Given the description of an element on the screen output the (x, y) to click on. 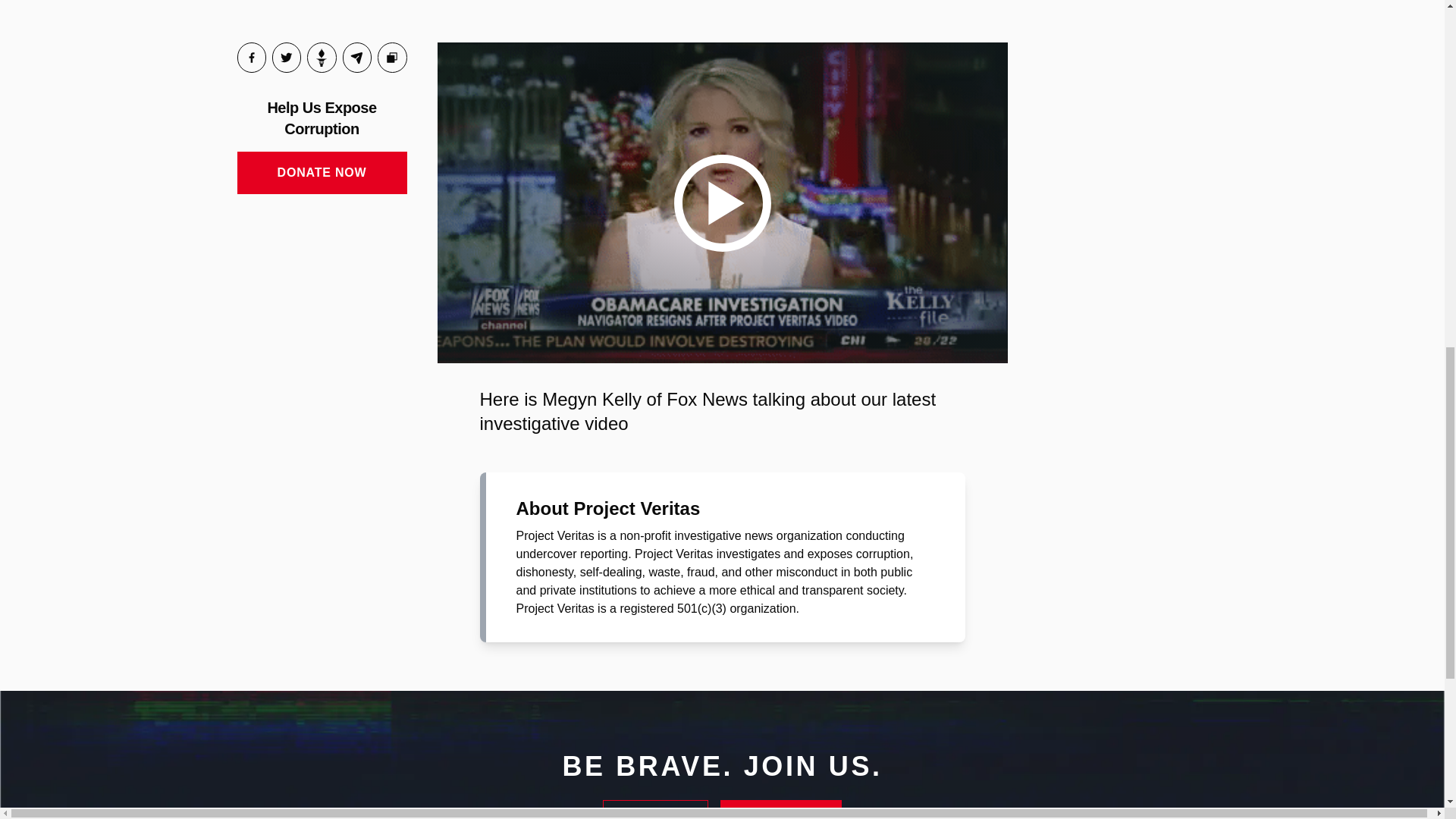
Copy To Clipboard (392, 57)
Twitter (286, 57)
E-mail (356, 57)
SEND A TIP (654, 809)
Gettr (321, 57)
Copy to Clipboard (392, 57)
Facebook (249, 57)
DONATE NOW (780, 809)
DONATE NOW (320, 172)
